Given the description of an element on the screen output the (x, y) to click on. 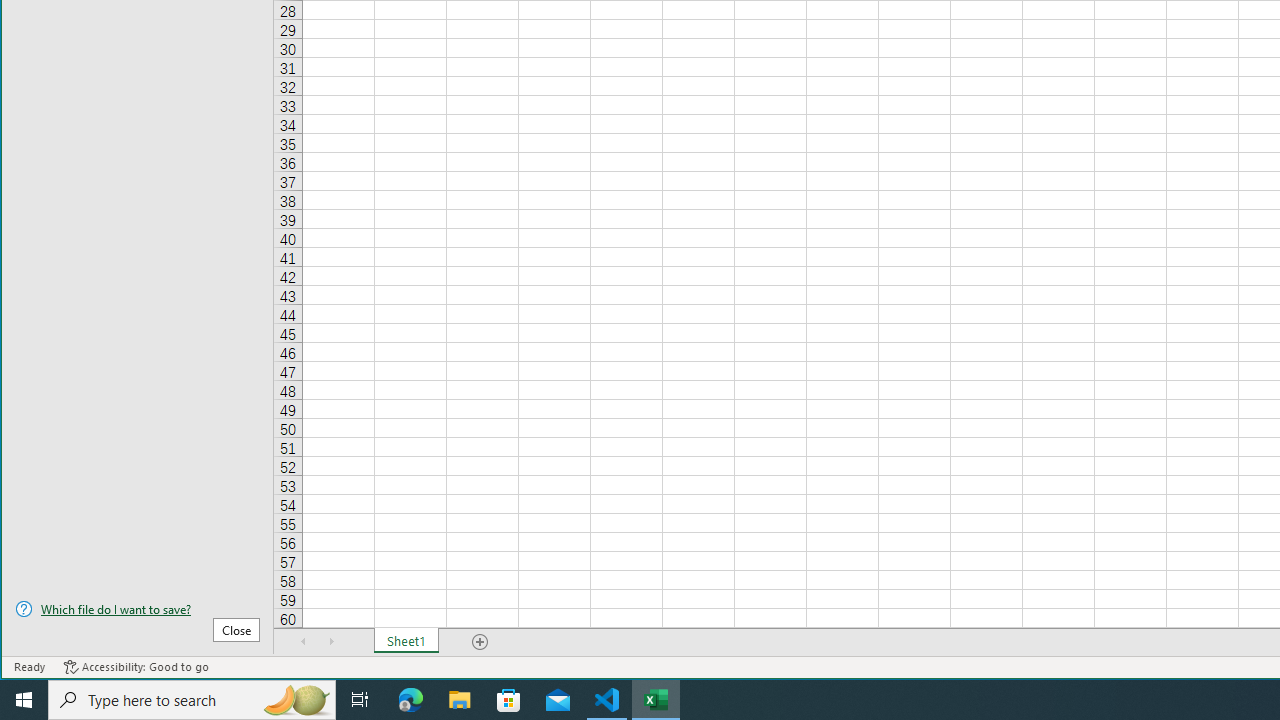
Task View (359, 699)
Visual Studio Code - 1 running window (607, 699)
Microsoft Store (509, 699)
Search highlights icon opens search home window (295, 699)
Microsoft Edge (411, 699)
Type here to search (191, 699)
Excel - 1 running window (656, 699)
Start (24, 699)
